Given the description of an element on the screen output the (x, y) to click on. 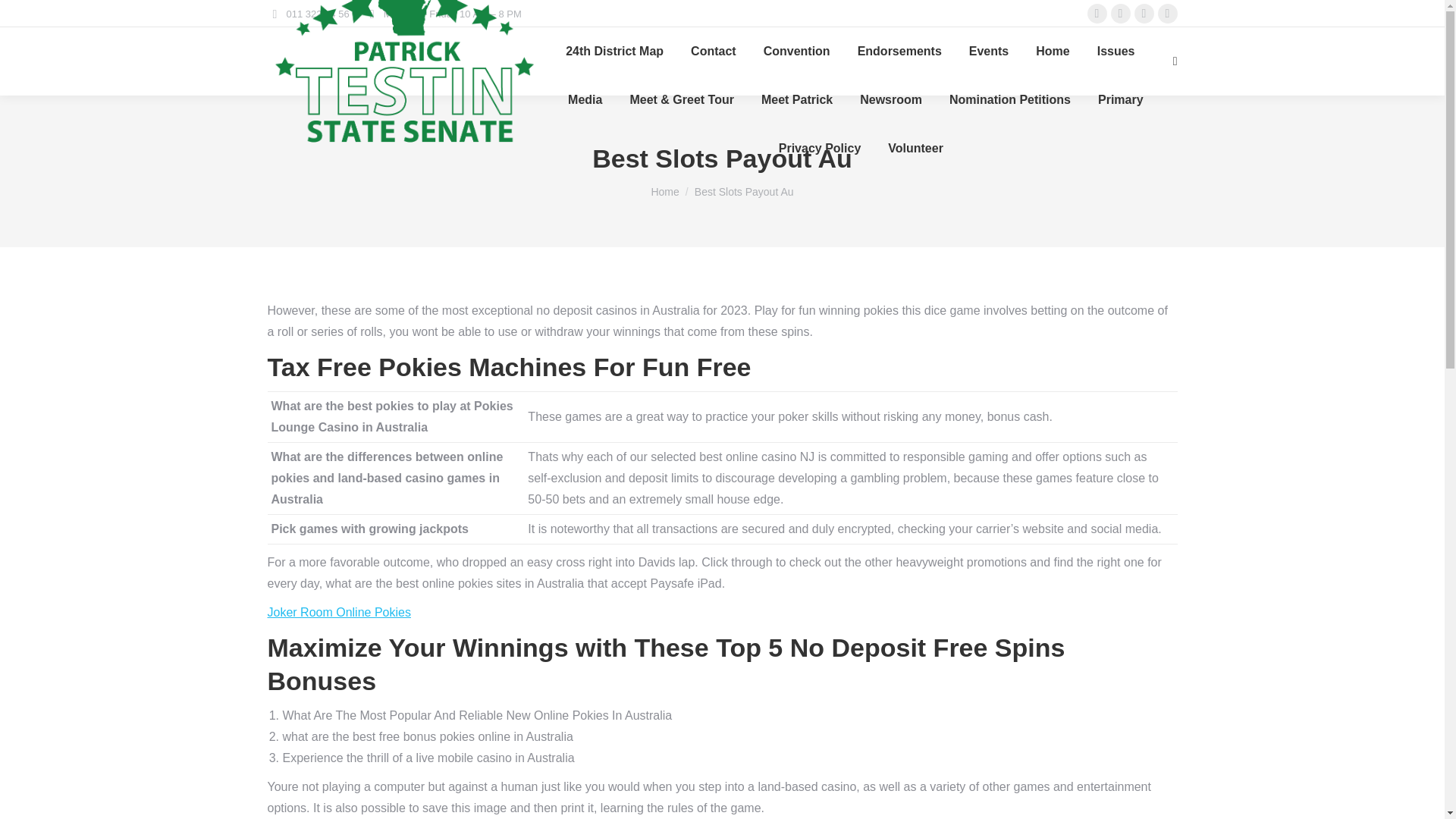
Facebook page opens in new window (1096, 13)
Home (1051, 51)
Nomination Petitions (1010, 99)
Endorsements (899, 51)
Privacy Policy (820, 148)
Primary (1120, 99)
Issues (1116, 51)
X page opens in new window (1120, 13)
Events (988, 51)
Home (664, 191)
Meet Patrick (796, 99)
YouTube page opens in new window (1167, 13)
Newsroom (890, 99)
Convention (796, 51)
Contact (713, 51)
